Given the description of an element on the screen output the (x, y) to click on. 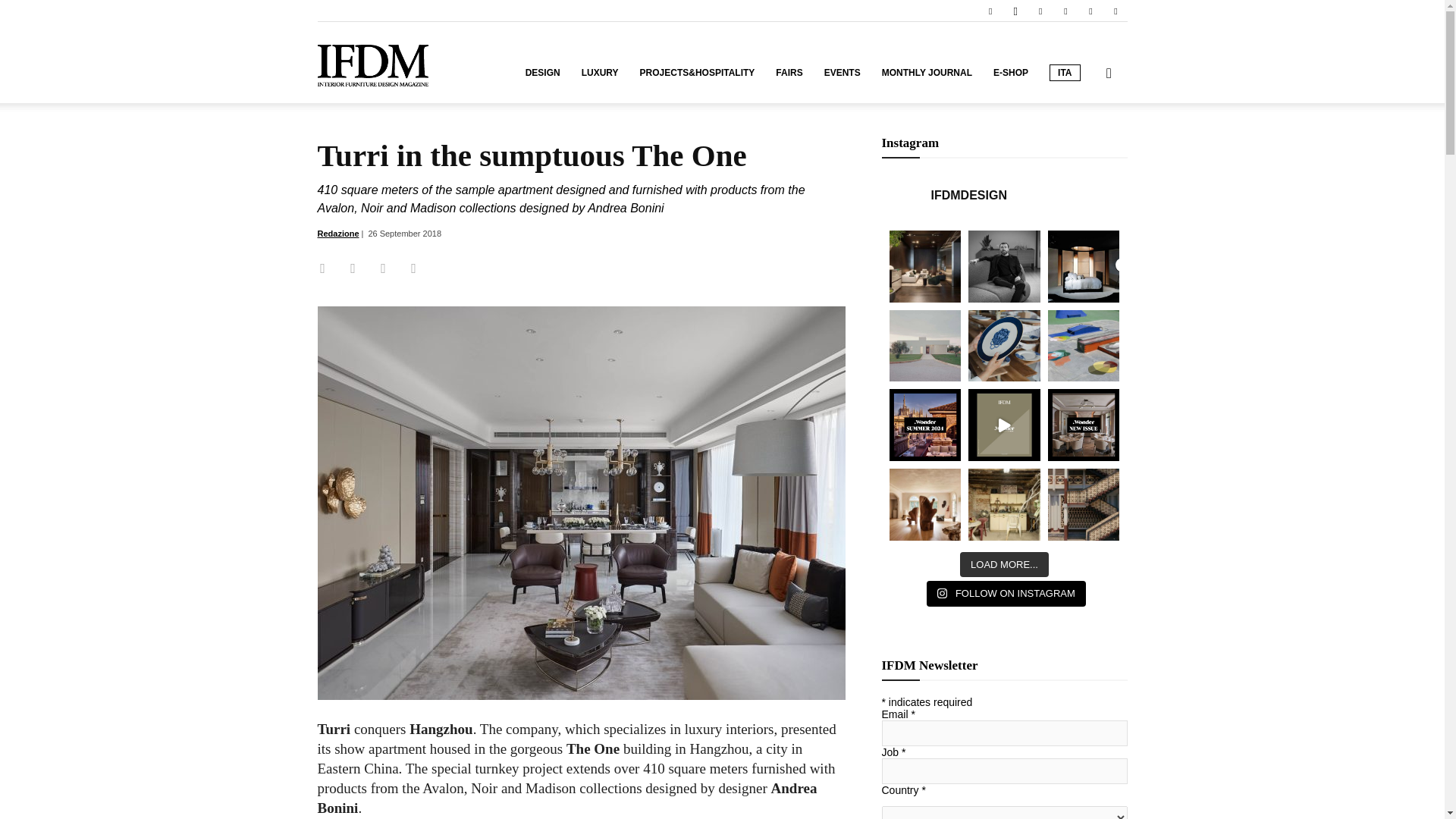
Twitter (1090, 10)
Linkedin (1040, 10)
DESIGN (542, 73)
E-SHOP (1010, 73)
Facebook (989, 10)
Youtube (1114, 10)
IFDM (372, 61)
Pinterest (1065, 10)
Instagram (1015, 10)
EVENTS (841, 73)
LUXURY (599, 73)
Search (1085, 145)
Redazione (337, 233)
MONTHLY JOURNAL (926, 73)
